Given the description of an element on the screen output the (x, y) to click on. 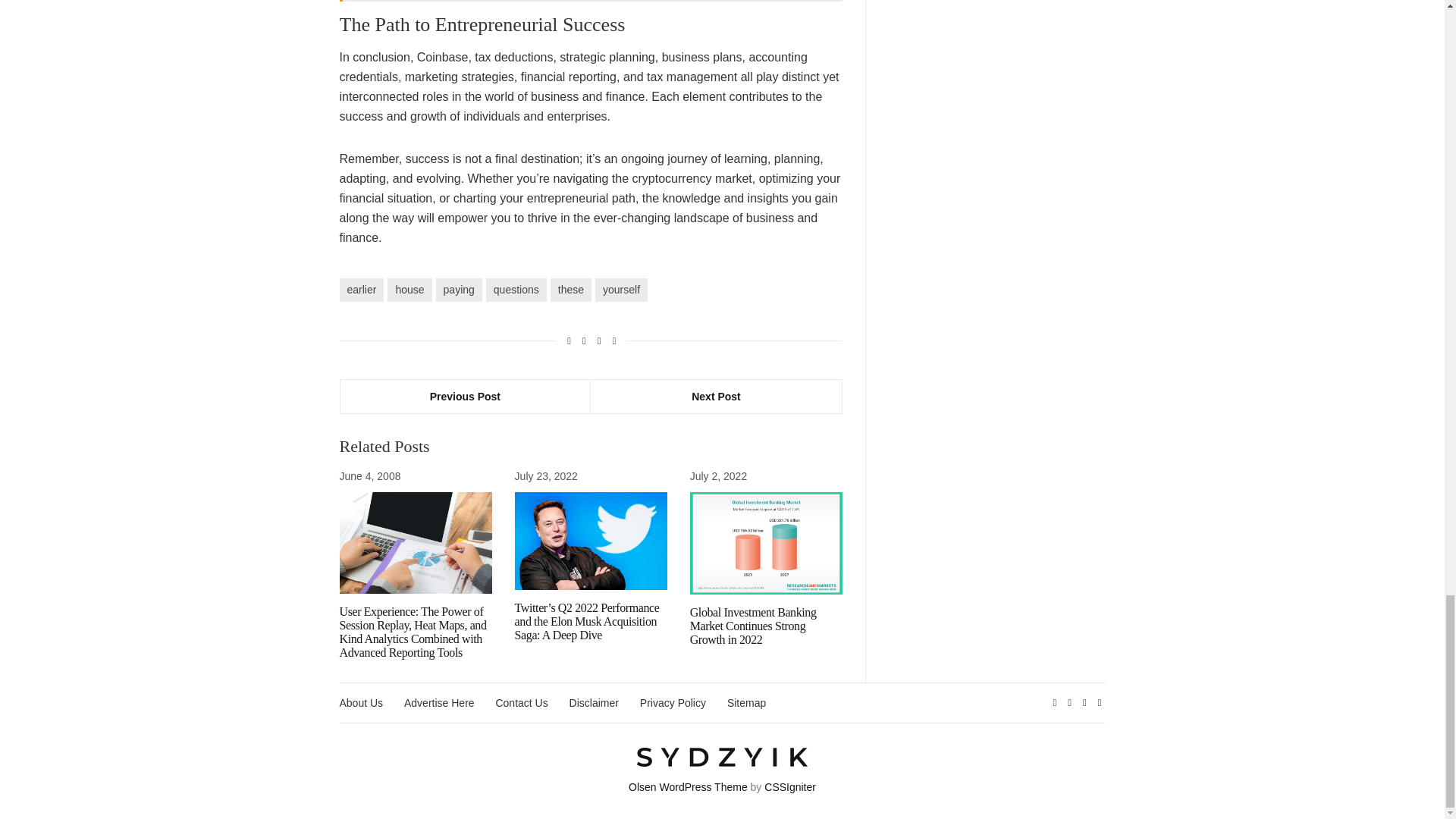
earlier (361, 290)
these (570, 290)
Blogging theme for WordPress (688, 787)
questions (516, 290)
yourself (621, 290)
paying (458, 290)
house (408, 290)
Advanced Reporting Tools (415, 542)
